Given the description of an element on the screen output the (x, y) to click on. 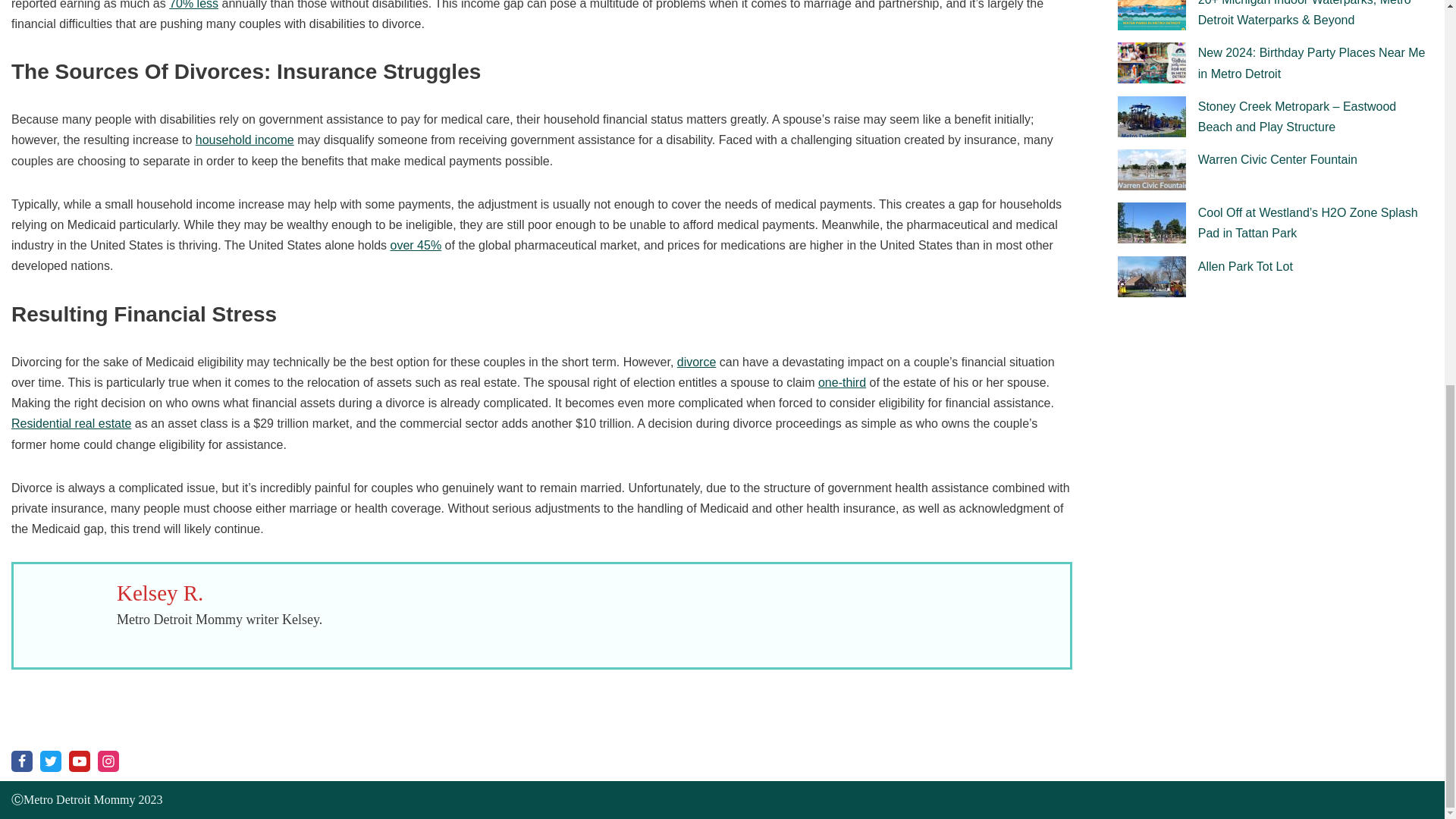
Twitter (50, 761)
Youtube (79, 761)
Facebook (21, 761)
Instagram (108, 761)
